Given the description of an element on the screen output the (x, y) to click on. 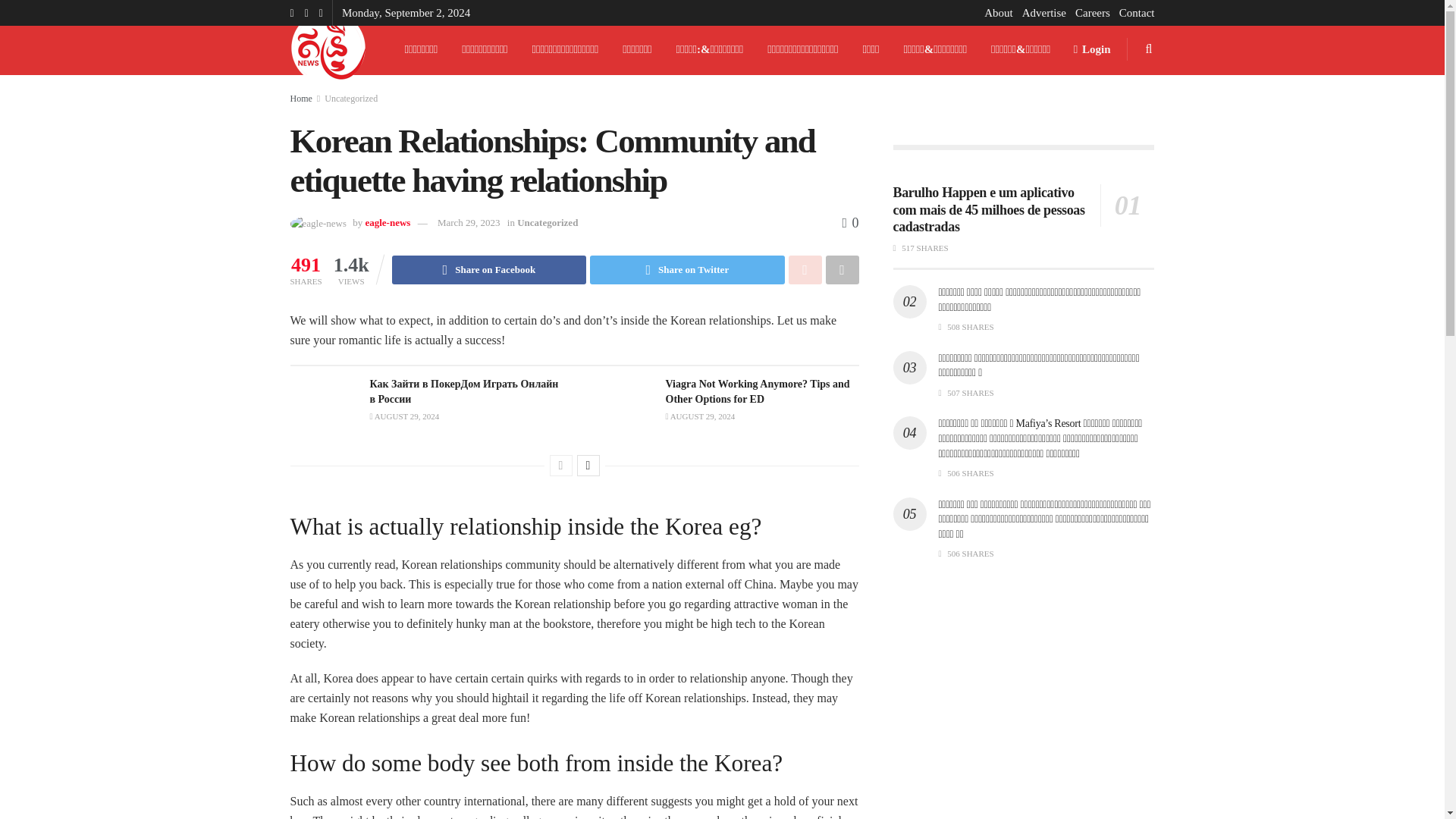
0 (850, 222)
Viagra Not Working Anymore? Tips and Other Options for ED (757, 391)
Careers (1092, 12)
AUGUST 29, 2024 (700, 415)
Contact (1136, 12)
Share on Facebook (488, 269)
Uncategorized (547, 222)
eagle-news (387, 222)
Next (587, 465)
Uncategorized (350, 98)
